Given the description of an element on the screen output the (x, y) to click on. 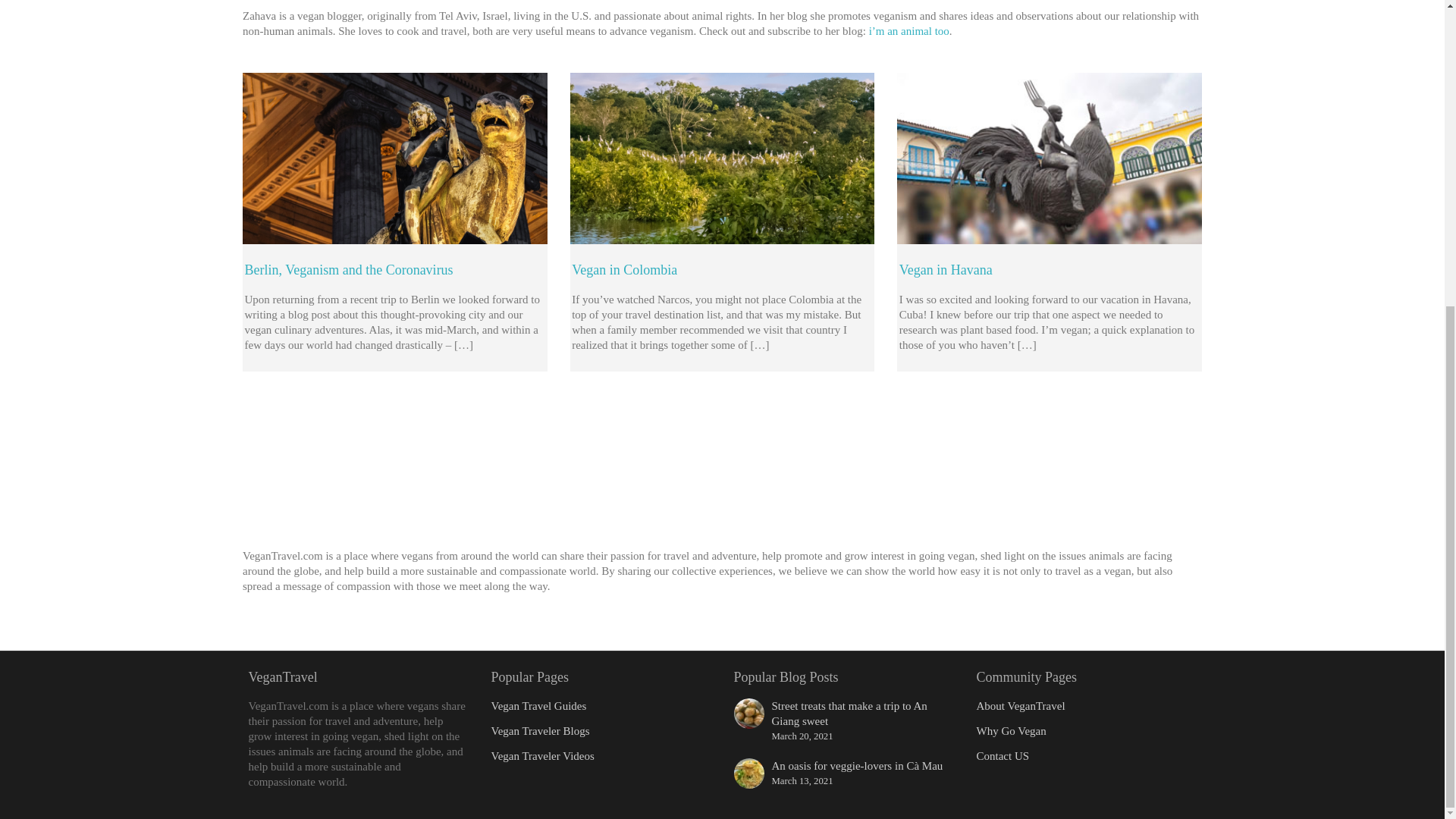
Berlin, Veganism and the Coronavirus (348, 269)
Vegan in Colombia (624, 269)
